Given the description of an element on the screen output the (x, y) to click on. 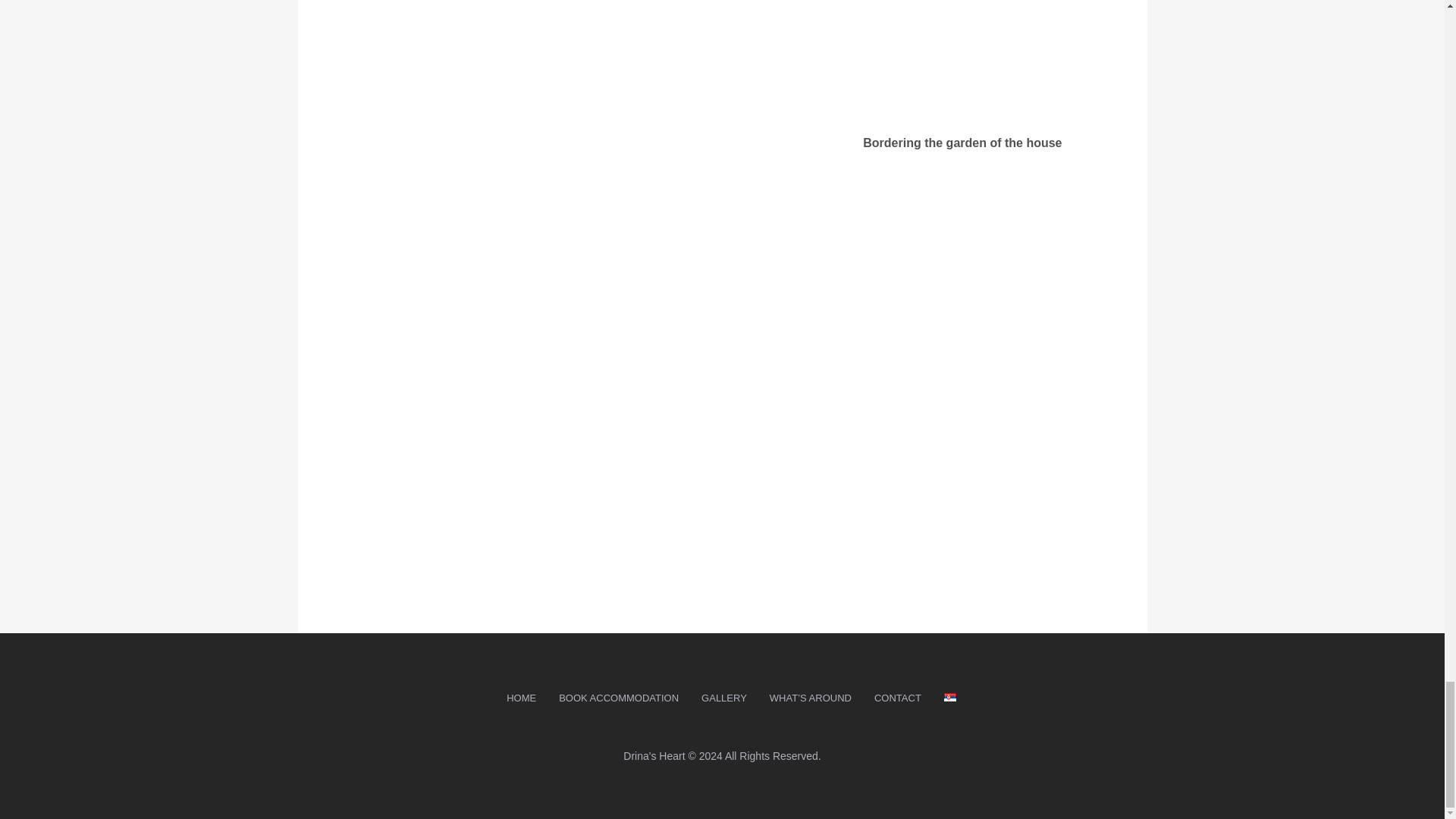
HOME (521, 698)
CONTACT (898, 698)
BOOK ACCOMMODATION (618, 698)
GALLERY (724, 698)
